Given the description of an element on the screen output the (x, y) to click on. 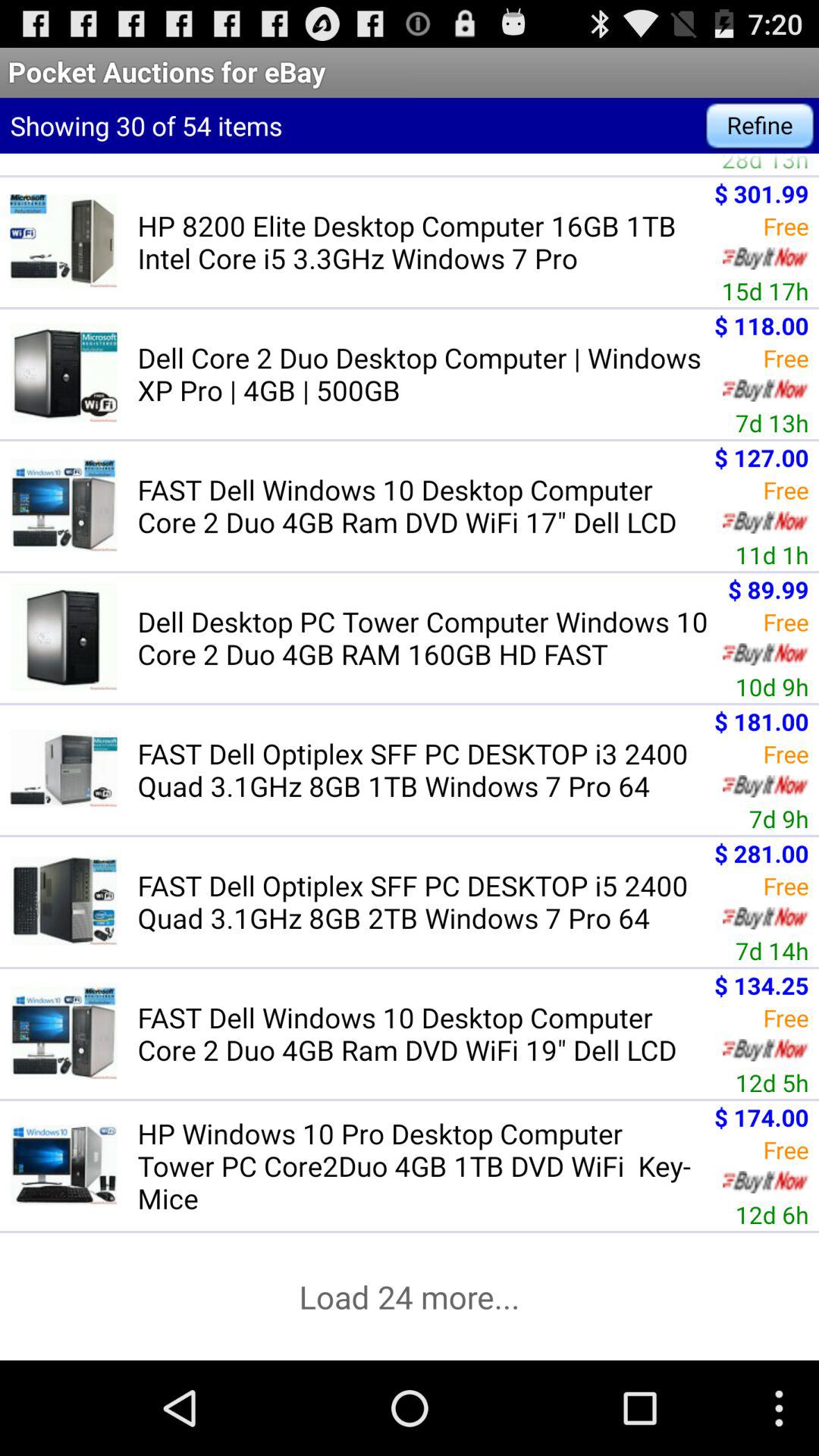
jump to 7d 9h app (778, 818)
